Given the description of an element on the screen output the (x, y) to click on. 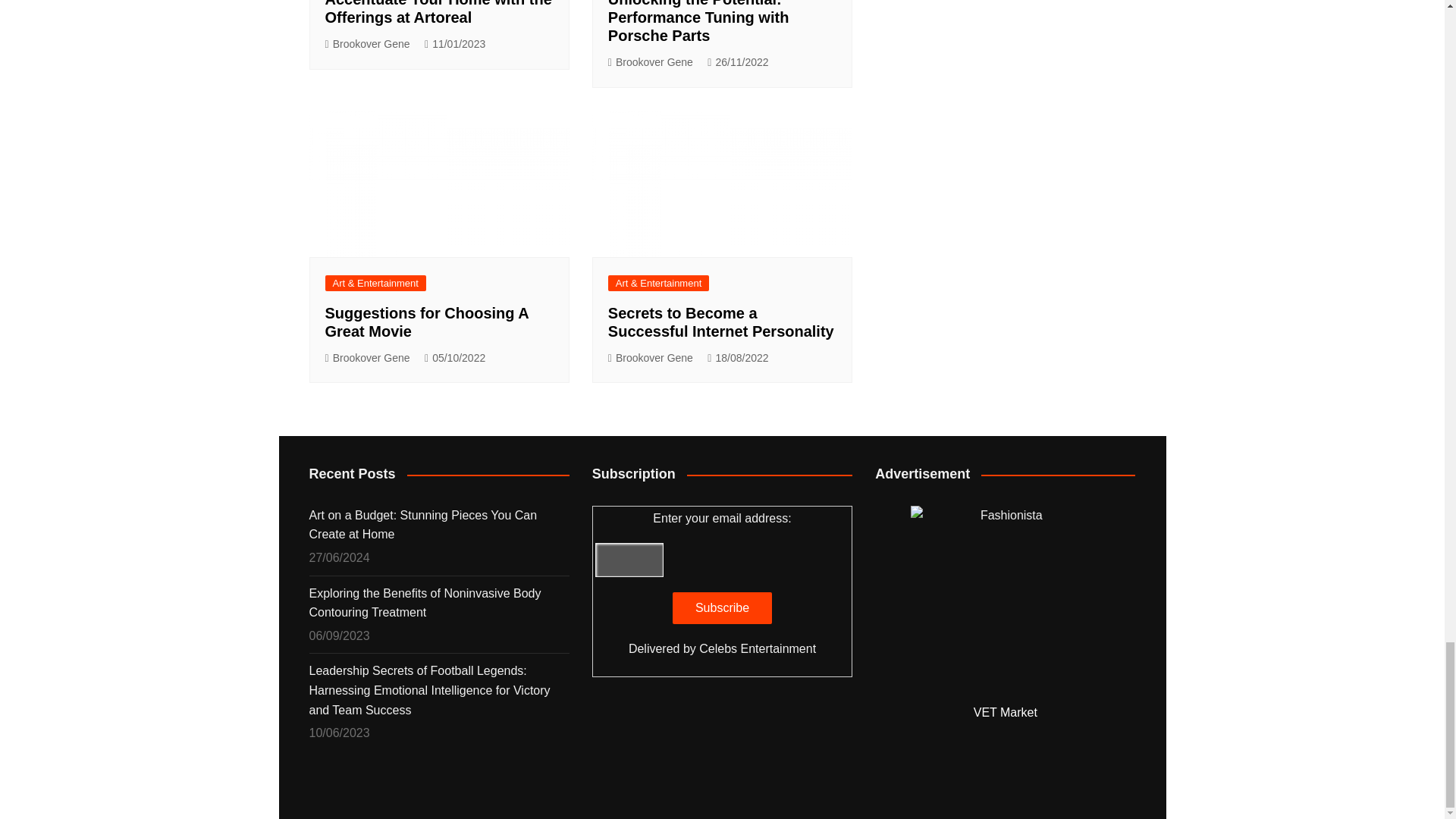
Secrets to Become a Successful Internet Personality (721, 183)
Suggestions for Choosing A Great Movie (438, 183)
Accentuate Your Home with the Offerings at Artoreal (437, 12)
Brookover Gene (366, 44)
Fashionista (1005, 600)
Brookover Gene (650, 62)
Subscribe (721, 608)
